Given the description of an element on the screen output the (x, y) to click on. 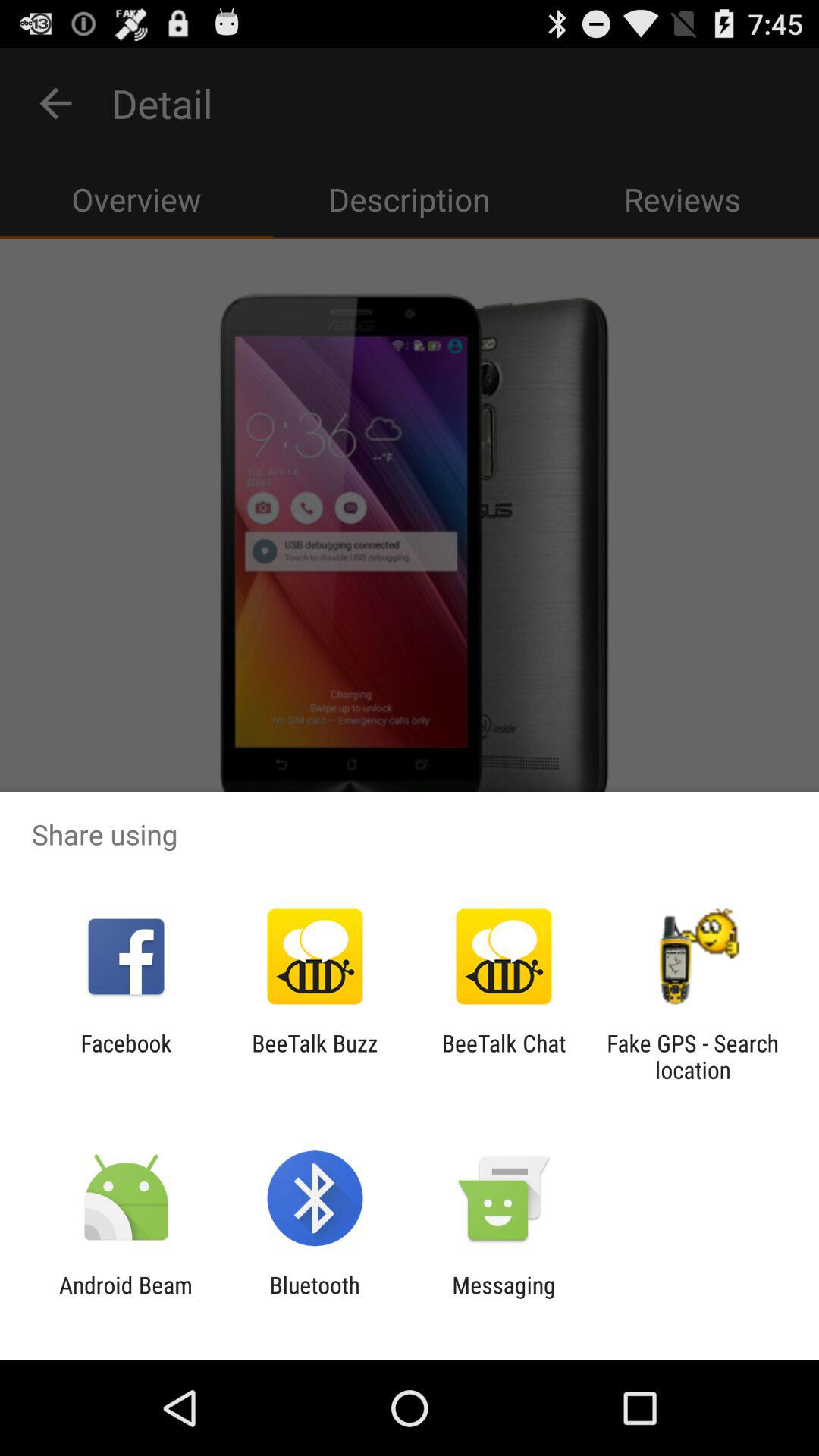
turn on the item next to the fake gps search app (503, 1056)
